Given the description of an element on the screen output the (x, y) to click on. 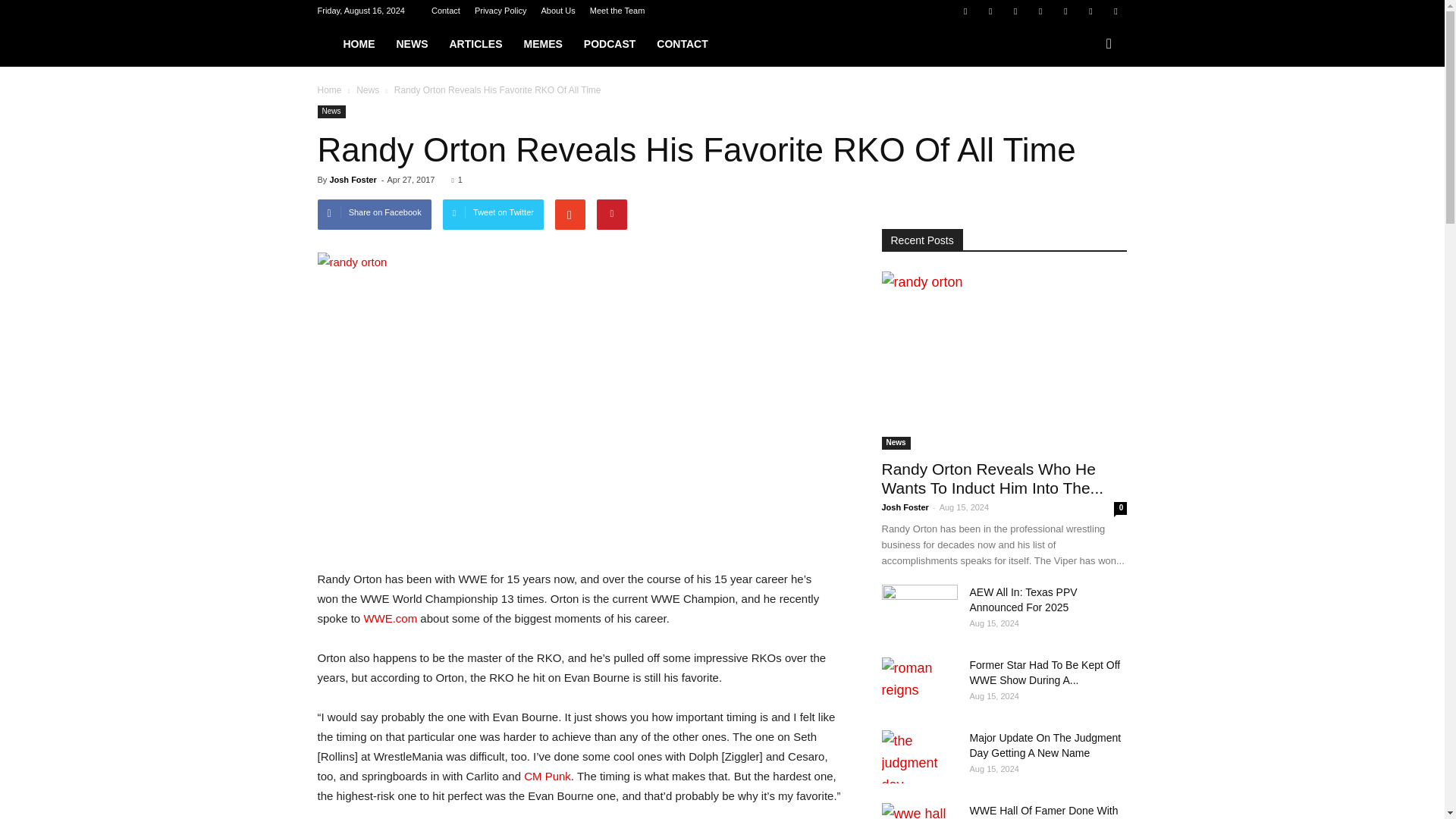
Instagram (1015, 10)
CONTACT (681, 43)
Soundcloud (1065, 10)
NEWS (411, 43)
HOME (358, 43)
Privacy Policy (499, 10)
MEMES (542, 43)
Twitter (1090, 10)
ARTICLES (475, 43)
About Us (557, 10)
